Given the description of an element on the screen output the (x, y) to click on. 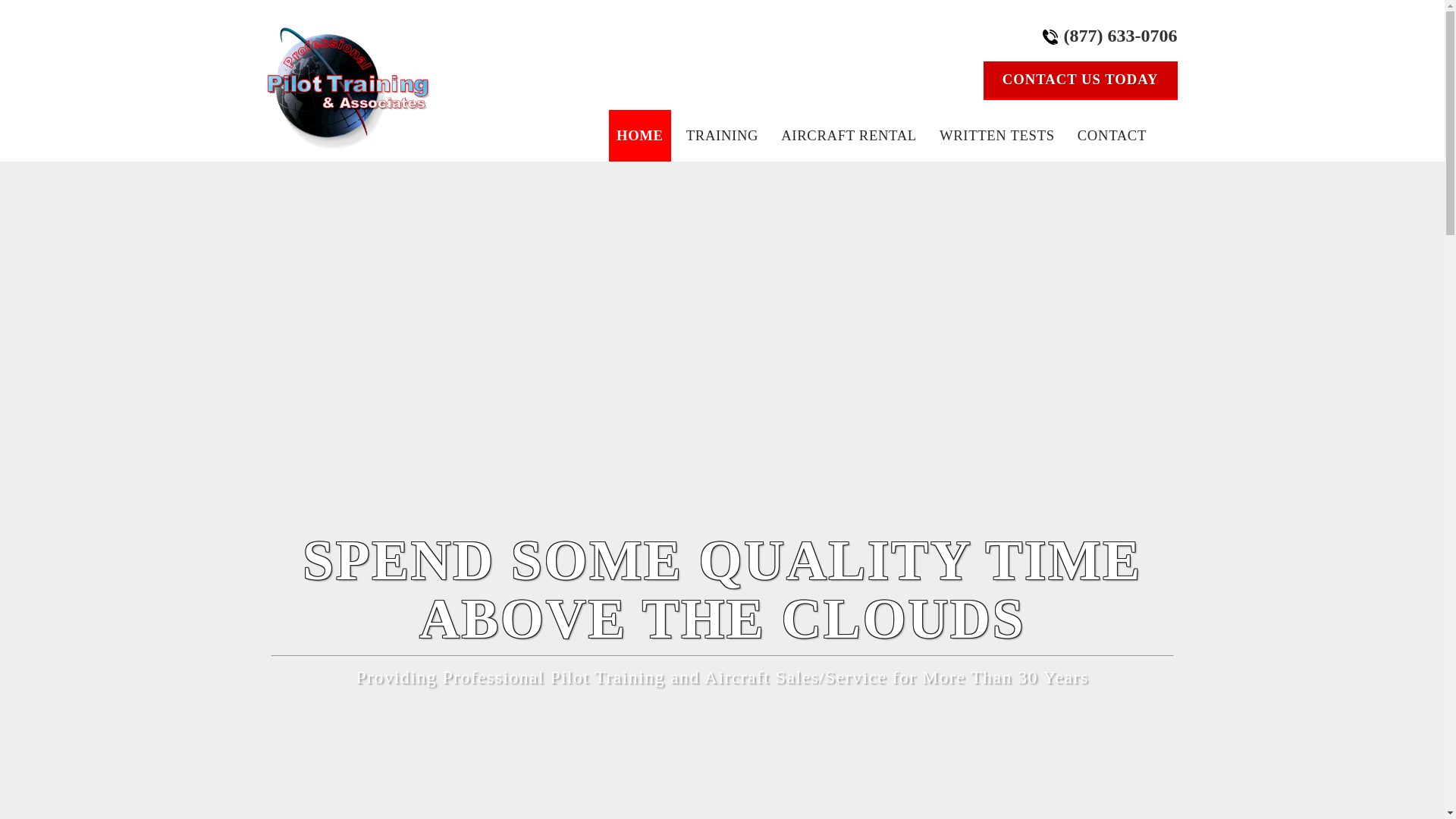
TRAINING (722, 135)
CONTACT (1112, 135)
WRITTEN TESTS (996, 135)
CONTACT US TODAY (1080, 79)
HOME (639, 135)
AIRCRAFT RENTAL (848, 135)
